Given the description of an element on the screen output the (x, y) to click on. 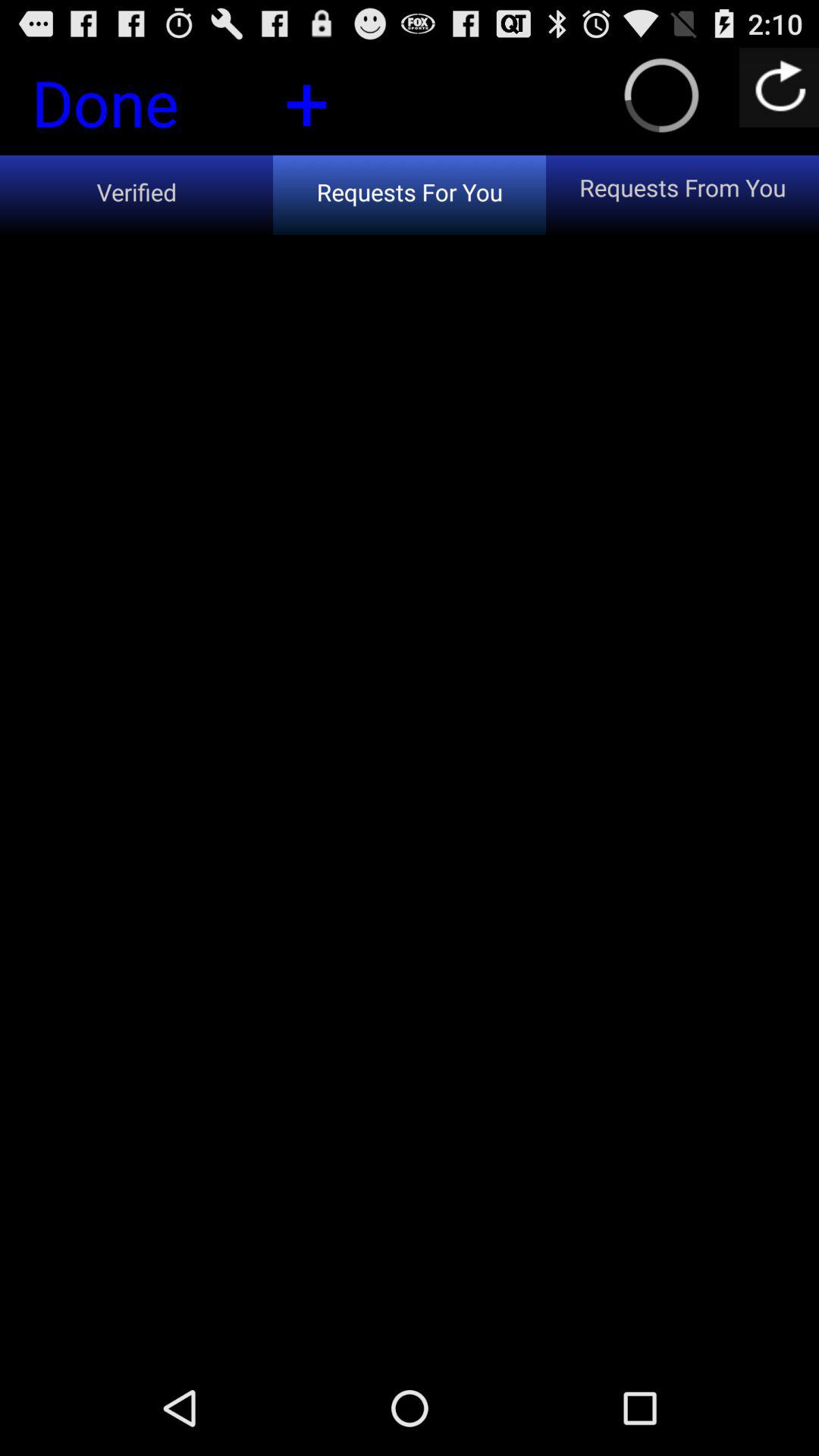
turn off the item next to the requests for you icon (136, 194)
